Given the description of an element on the screen output the (x, y) to click on. 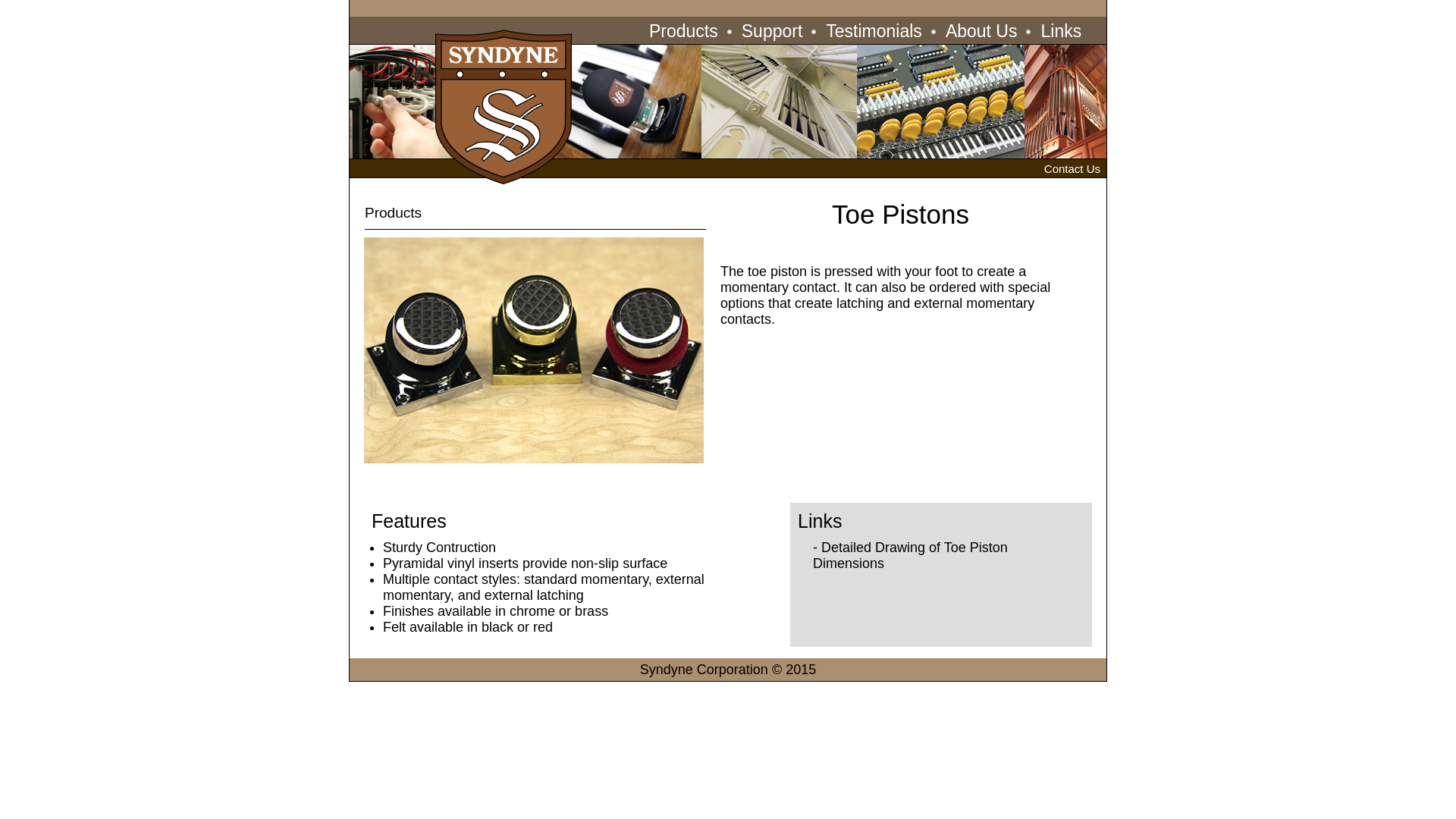
Products (393, 212)
Support (772, 30)
About Us (980, 30)
Products (683, 30)
- Detailed Drawing of Toe Piston Dimensions (909, 554)
Testimonials (873, 30)
